Given the description of an element on the screen output the (x, y) to click on. 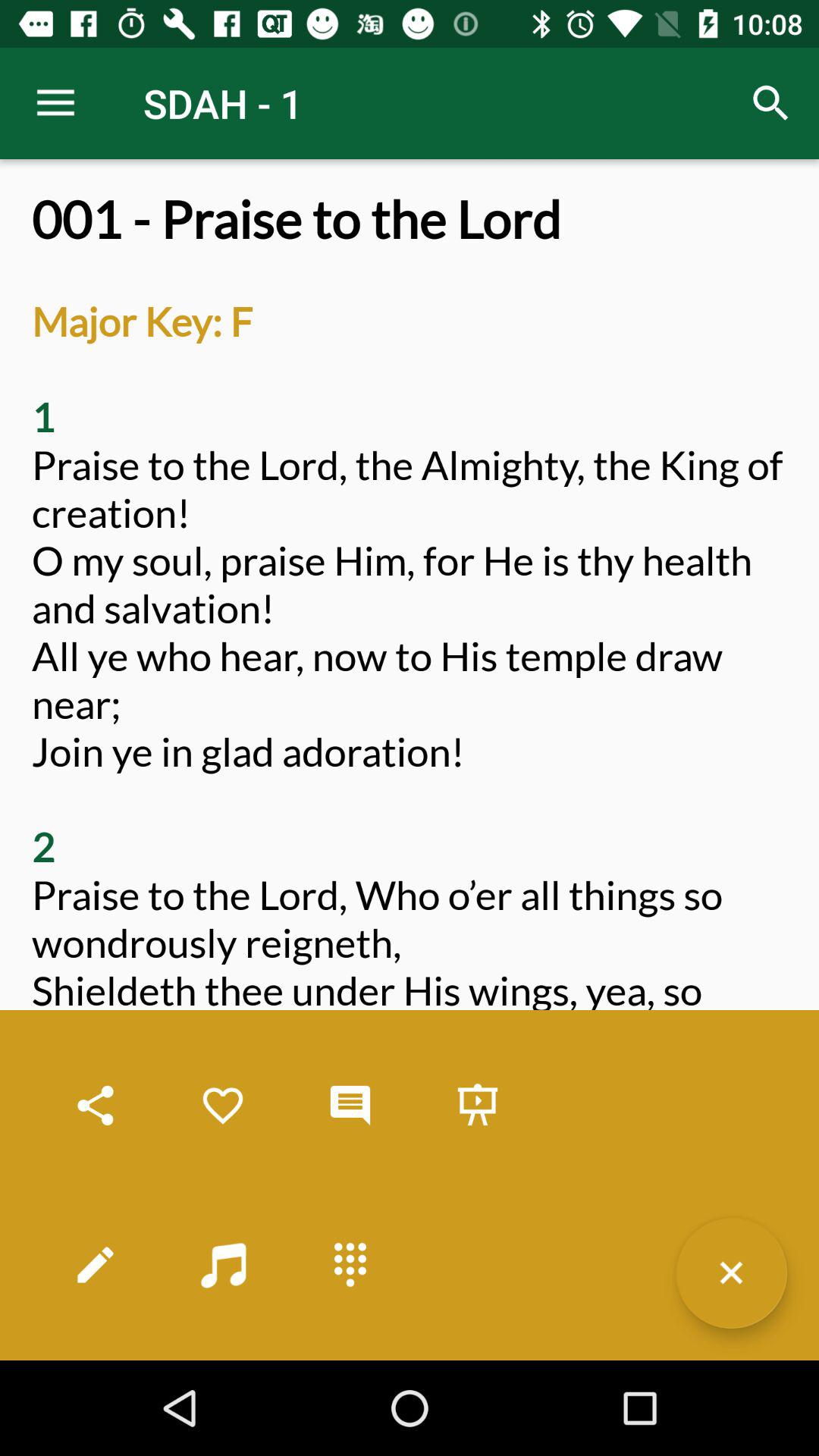
control audio (222, 1264)
